Given the description of an element on the screen output the (x, y) to click on. 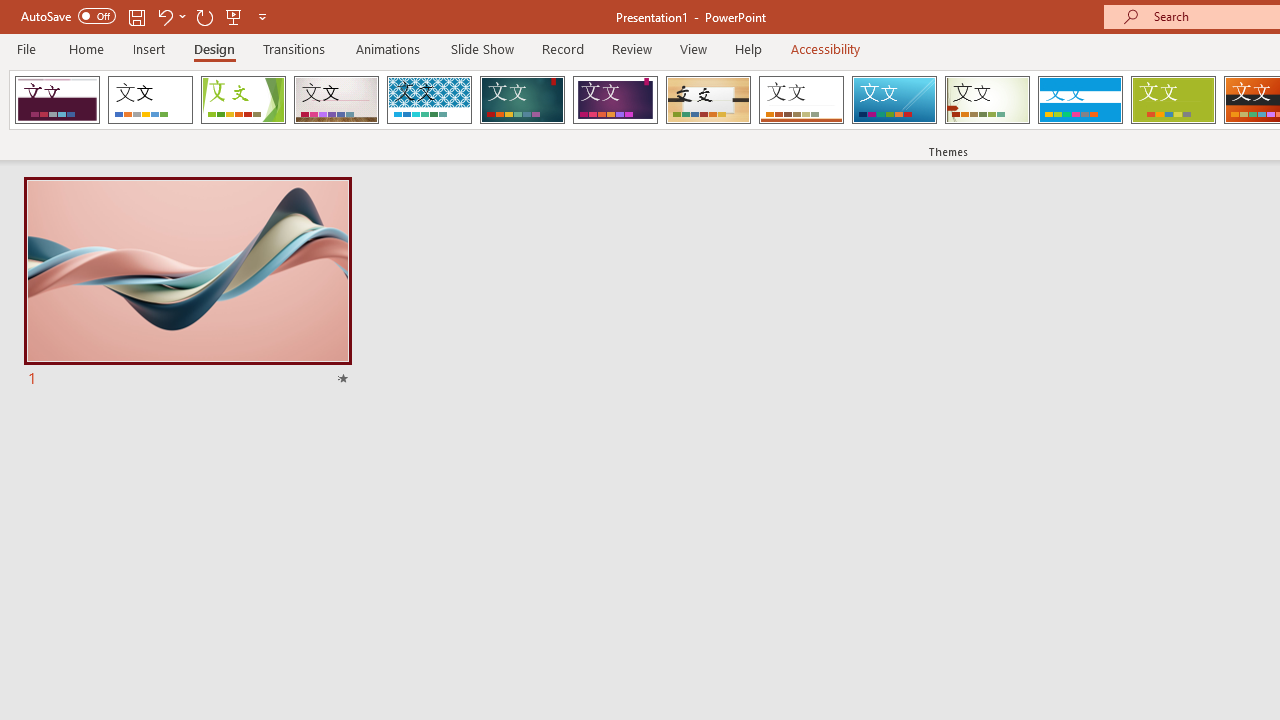
Organic (708, 100)
Ion Boardroom (615, 100)
Basis (1172, 100)
Slice (893, 100)
Retrospect (801, 100)
